Given the description of an element on the screen output the (x, y) to click on. 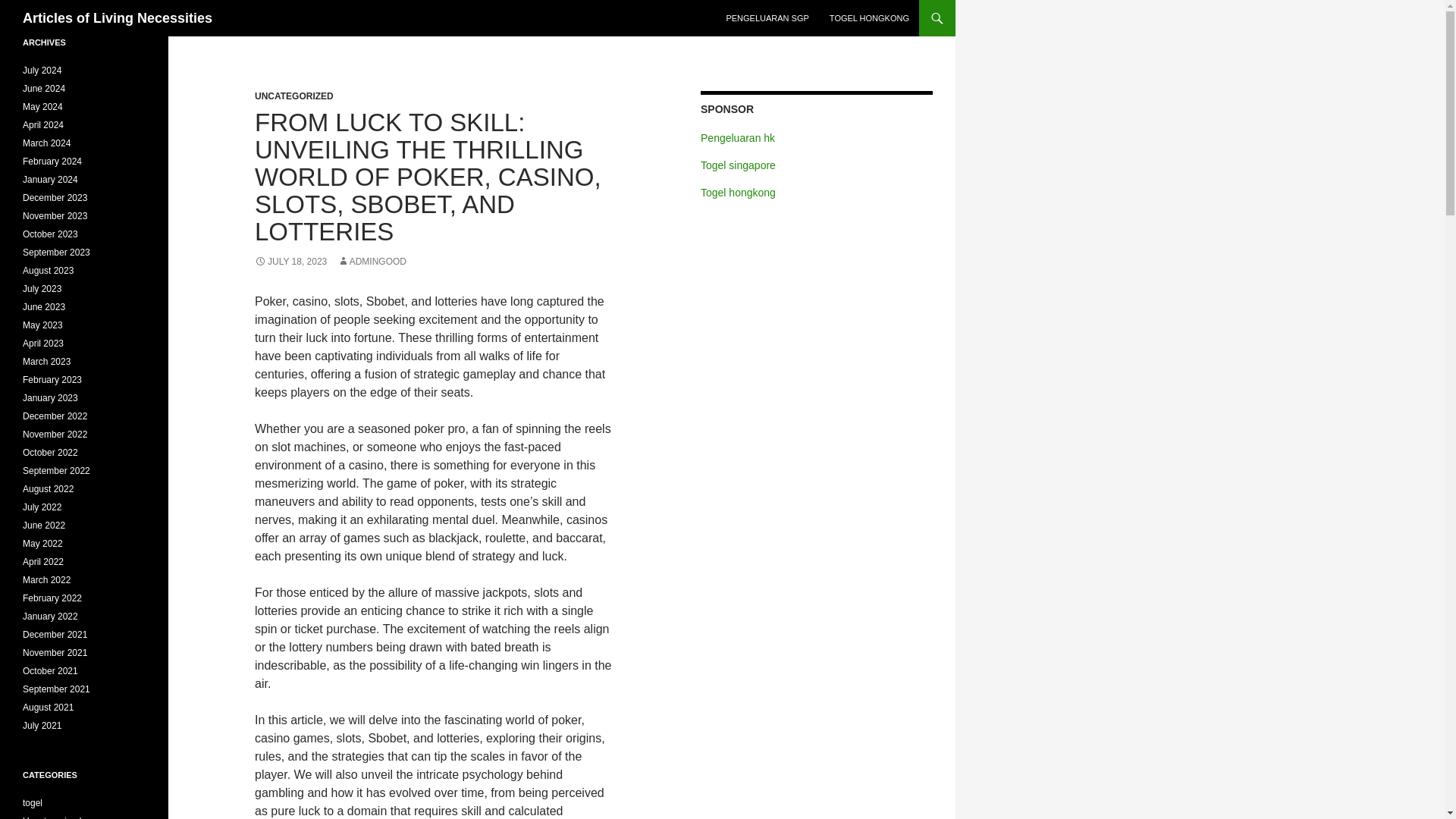
April 2024 (43, 124)
JULY 18, 2023 (290, 261)
August 2023 (48, 270)
Togel hongkong (738, 192)
January 2023 (50, 398)
October 2022 (50, 452)
November 2022 (55, 434)
December 2022 (55, 416)
April 2023 (43, 343)
March 2024 (46, 143)
October 2023 (50, 234)
July 2024 (42, 70)
Togel singapore (738, 164)
June 2023 (44, 307)
UNCATEGORIZED (293, 95)
